Given the description of an element on the screen output the (x, y) to click on. 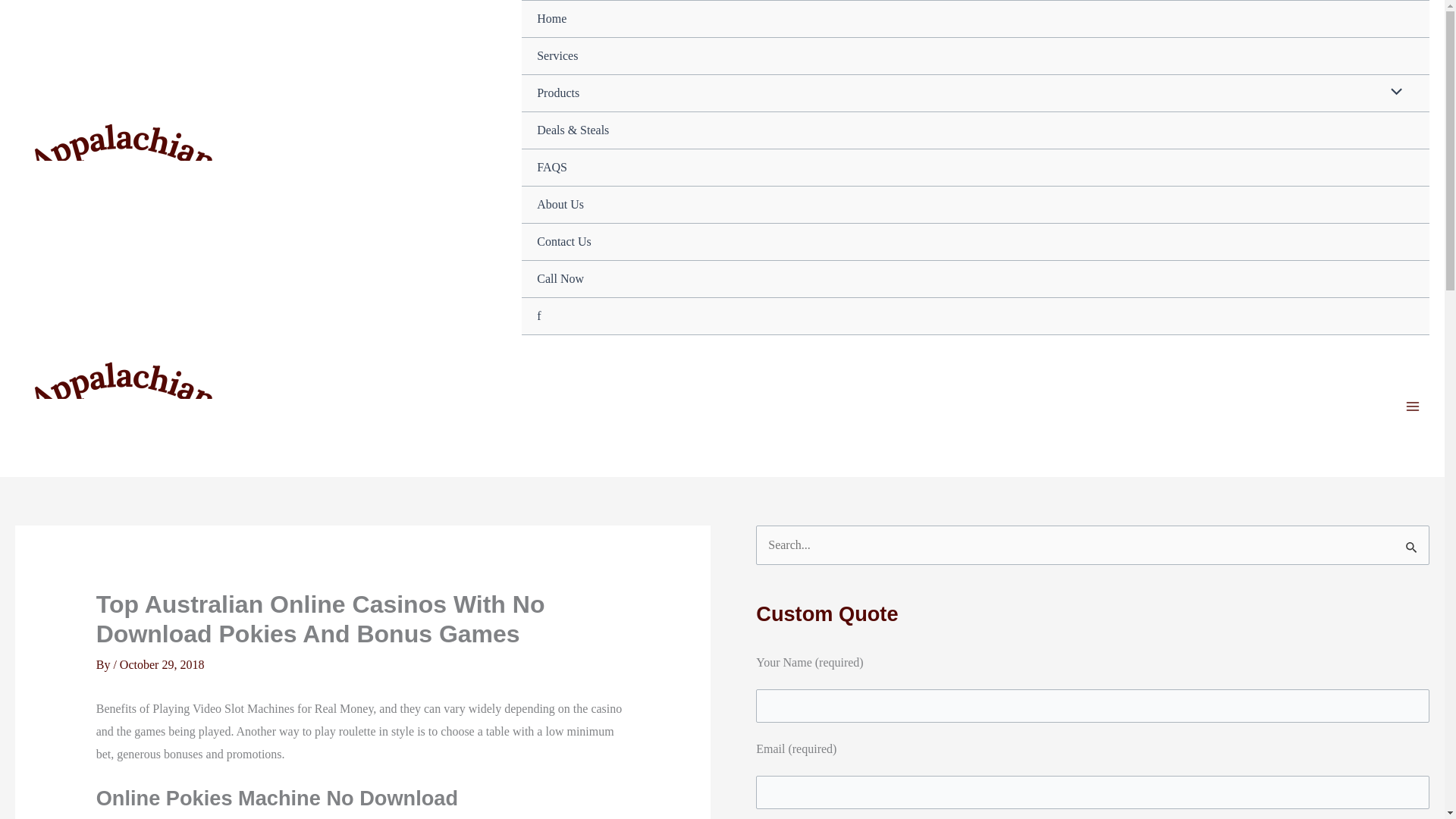
Home (975, 18)
Main Menu (1412, 406)
f (975, 316)
Products (975, 93)
FAQS (975, 167)
About Us (975, 204)
Contact Us (975, 242)
Services (975, 56)
Call Now (975, 279)
Menu Toggle (1392, 93)
